Given the description of an element on the screen output the (x, y) to click on. 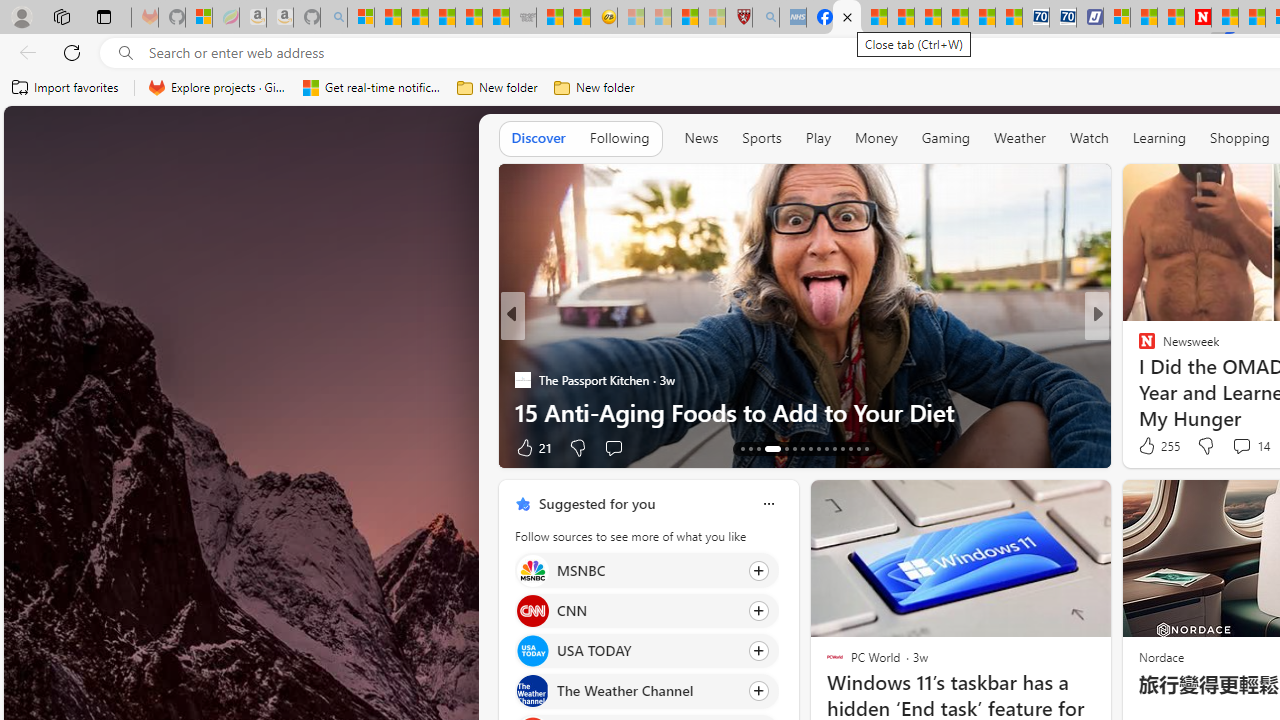
View comments 14 Comment (1241, 445)
View comments 228 Comment (1240, 447)
AutomationID: tab-69 (765, 448)
Gaming (945, 137)
639 Like (1151, 447)
Class: icon-img (768, 503)
